Given the description of an element on the screen output the (x, y) to click on. 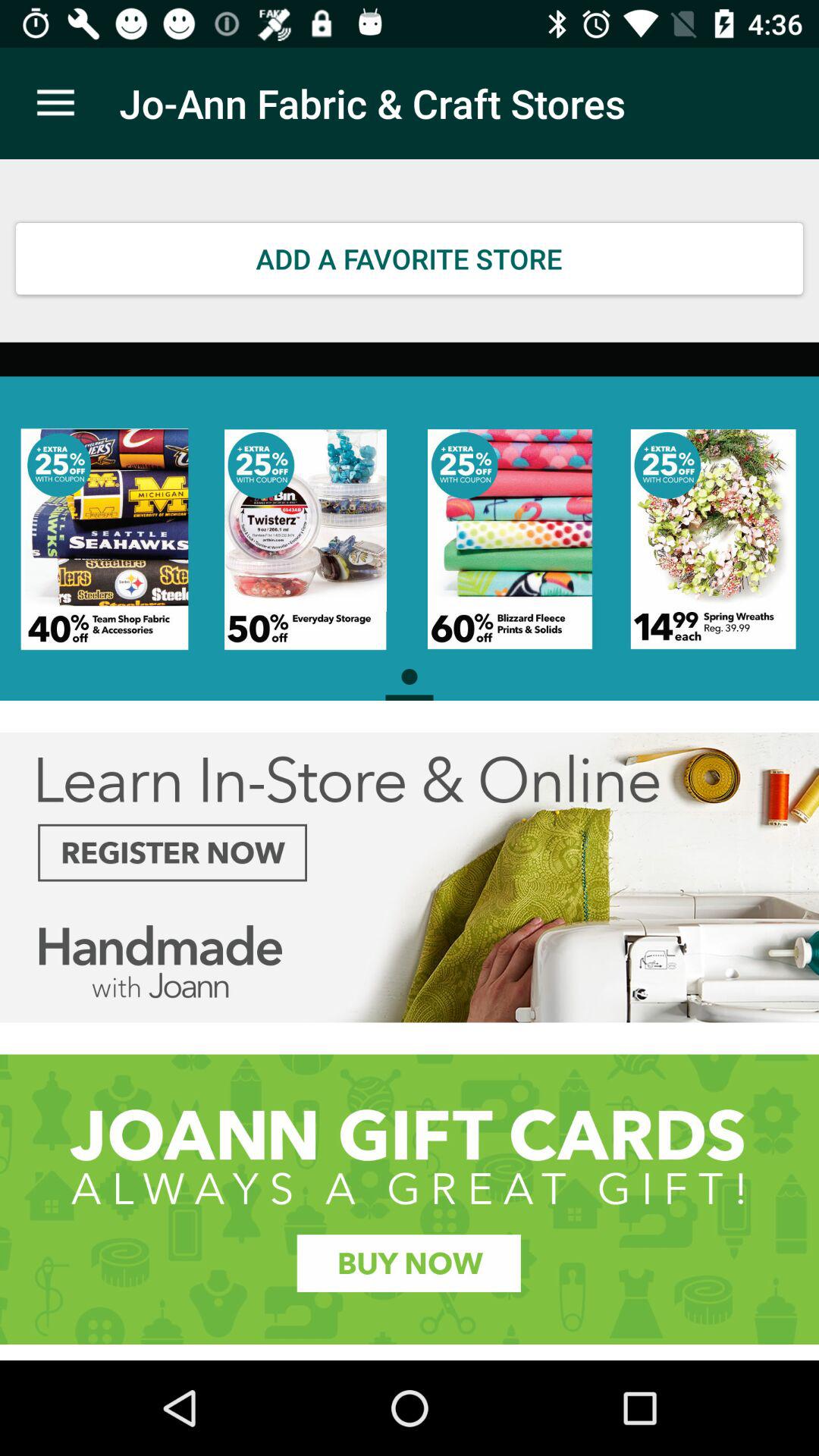
turn on the icon at the top left corner (55, 103)
